Given the description of an element on the screen output the (x, y) to click on. 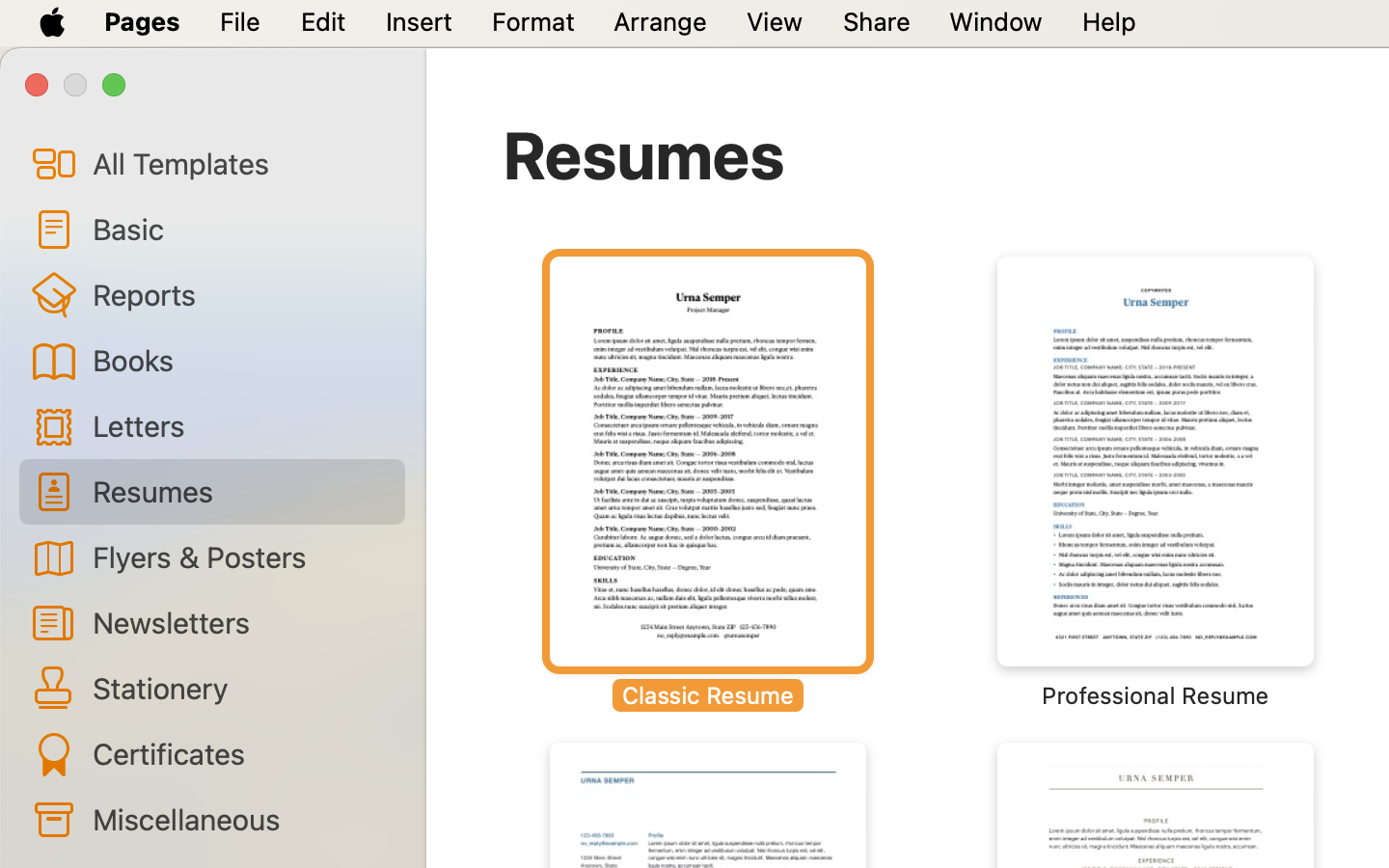
Books Element type: AXStaticText (240, 359)
‎⁨Classic Resume⁩ Element type: AXButton (707, 483)
Stationery Element type: AXStaticText (240, 687)
Certificates Element type: AXStaticText (240, 752)
Letters Element type: AXStaticText (240, 424)
